Given the description of an element on the screen output the (x, y) to click on. 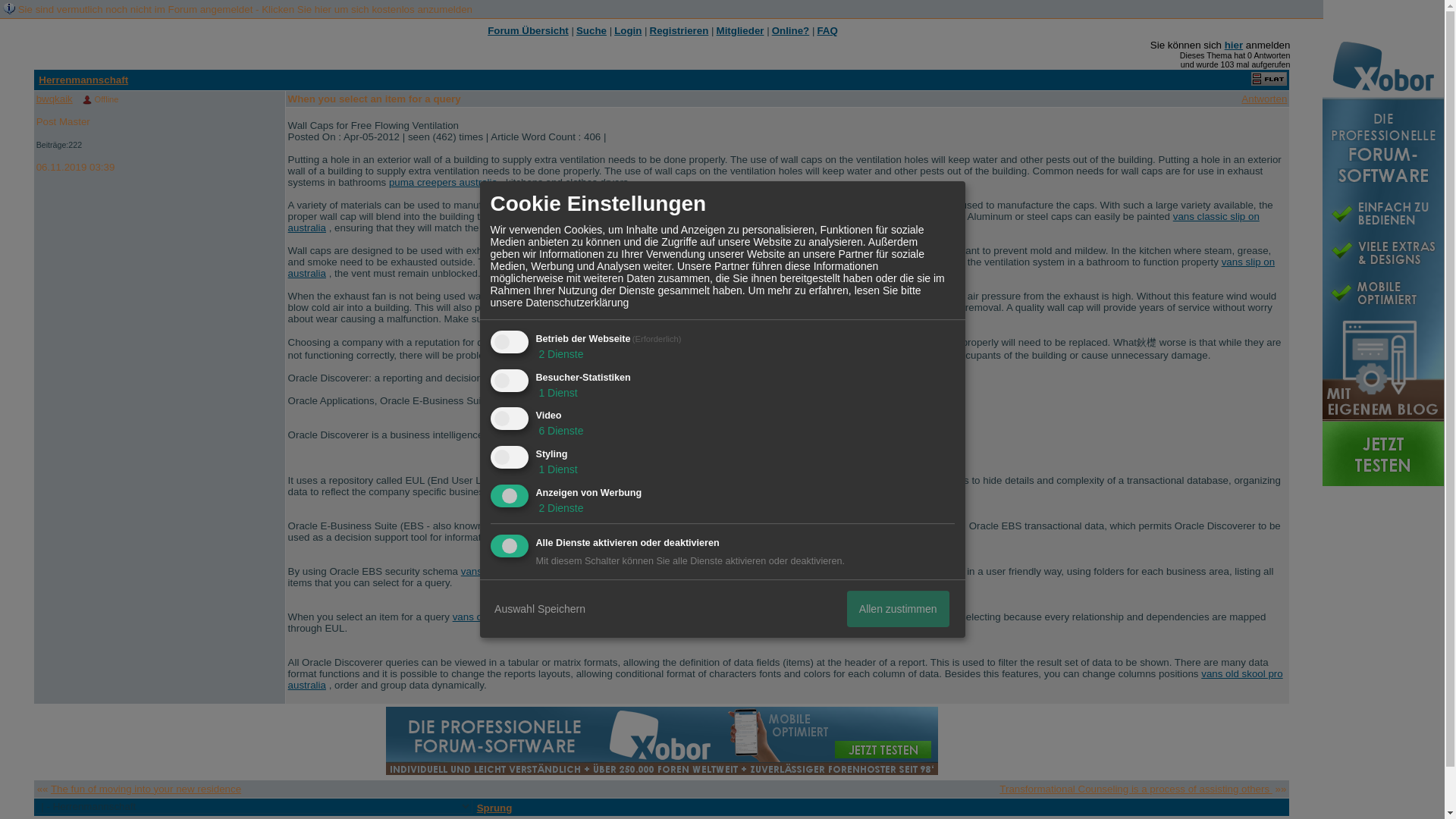
1 Dienst (555, 469)
vans old skool pink australia (515, 616)
vans sk8 hi slim australia (705, 400)
Herrenmannschaft (83, 79)
Sprung (494, 808)
6 Dienste (559, 430)
1 Dienst (555, 392)
Erstelle dein eigenes Forum mit Xobor (661, 740)
Login (628, 30)
vans old skool pro australia (785, 679)
